Given the description of an element on the screen output the (x, y) to click on. 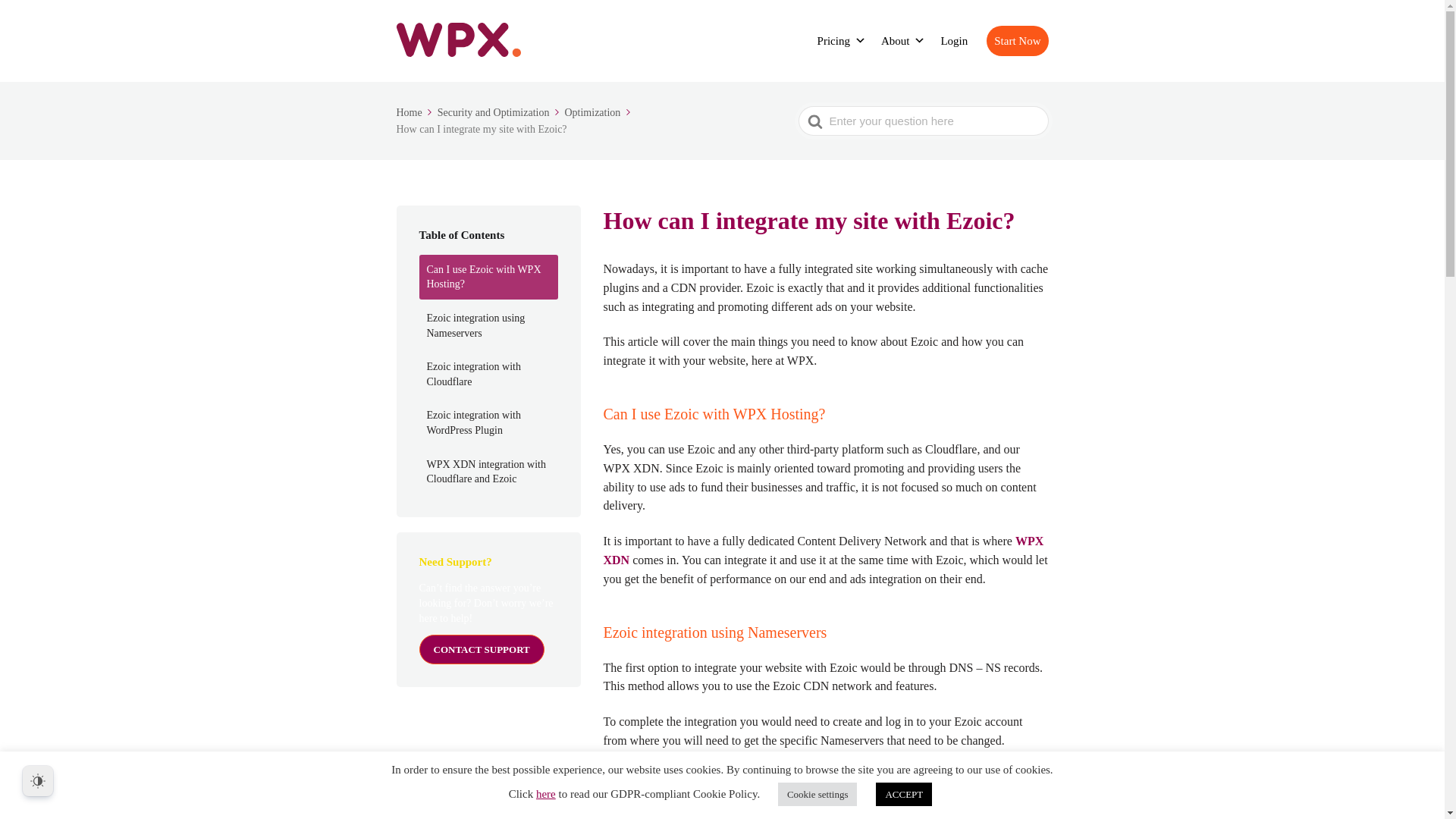
Start Now (1017, 40)
CONTACT SUPPORT (481, 649)
WPX XDN integration with Cloudflare and Ezoic (488, 471)
Pricing (841, 40)
Optimization (597, 112)
LiveChat chat widget (1326, 700)
Can I use Ezoic with WPX Hosting? (488, 276)
Ezoic integration with WordPress Plugin (488, 422)
About (903, 40)
Ezoic integration using Nameservers (488, 325)
WPX XDN (823, 550)
Ezoic integration with Cloudflare (488, 374)
Home (414, 112)
Login (954, 40)
Security and Optimization (500, 112)
